Given the description of an element on the screen output the (x, y) to click on. 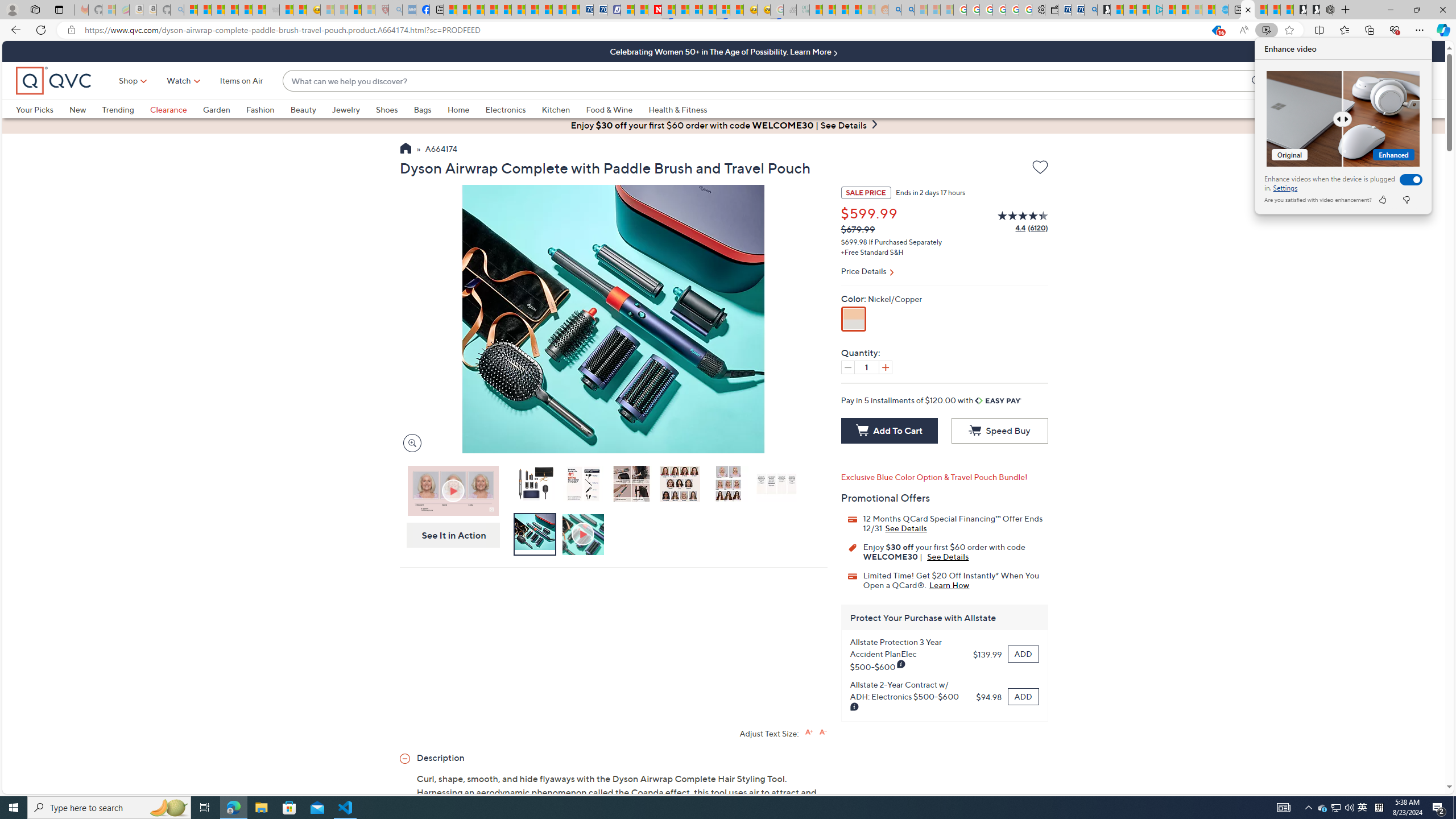
Bags (429, 109)
Search highlights icon opens search home window (167, 807)
New (76, 109)
Shoes (386, 109)
See It in Action (449, 534)
Food & Wine (617, 109)
Class: infoIcon fancybox fancybox.ajax (855, 706)
A664174 (441, 149)
Garden (224, 109)
Student Loan Update: Forgiveness Program Ends This Month (855, 9)
Jewelry (345, 109)
